Given the description of an element on the screen output the (x, y) to click on. 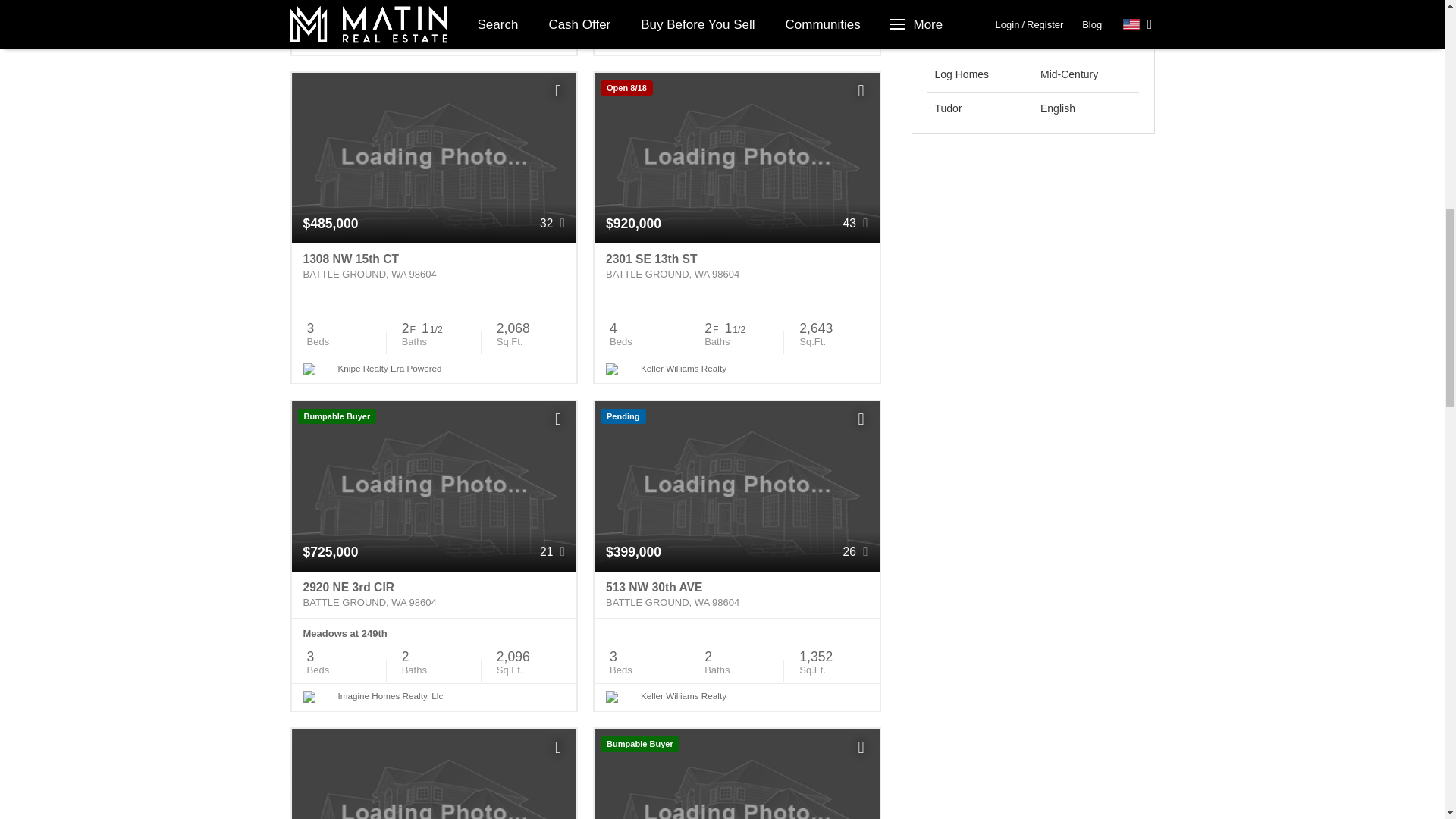
2301 SE 13th ST Battle Ground,  WA 98604 (736, 266)
513 NW 30th AVE Battle Ground,  WA 98604 (736, 595)
1308 NW 15th CT Battle Ground,  WA 98604 (433, 266)
2920 NE 3rd CIR Battle Ground,  WA 98604 (433, 595)
